Given the description of an element on the screen output the (x, y) to click on. 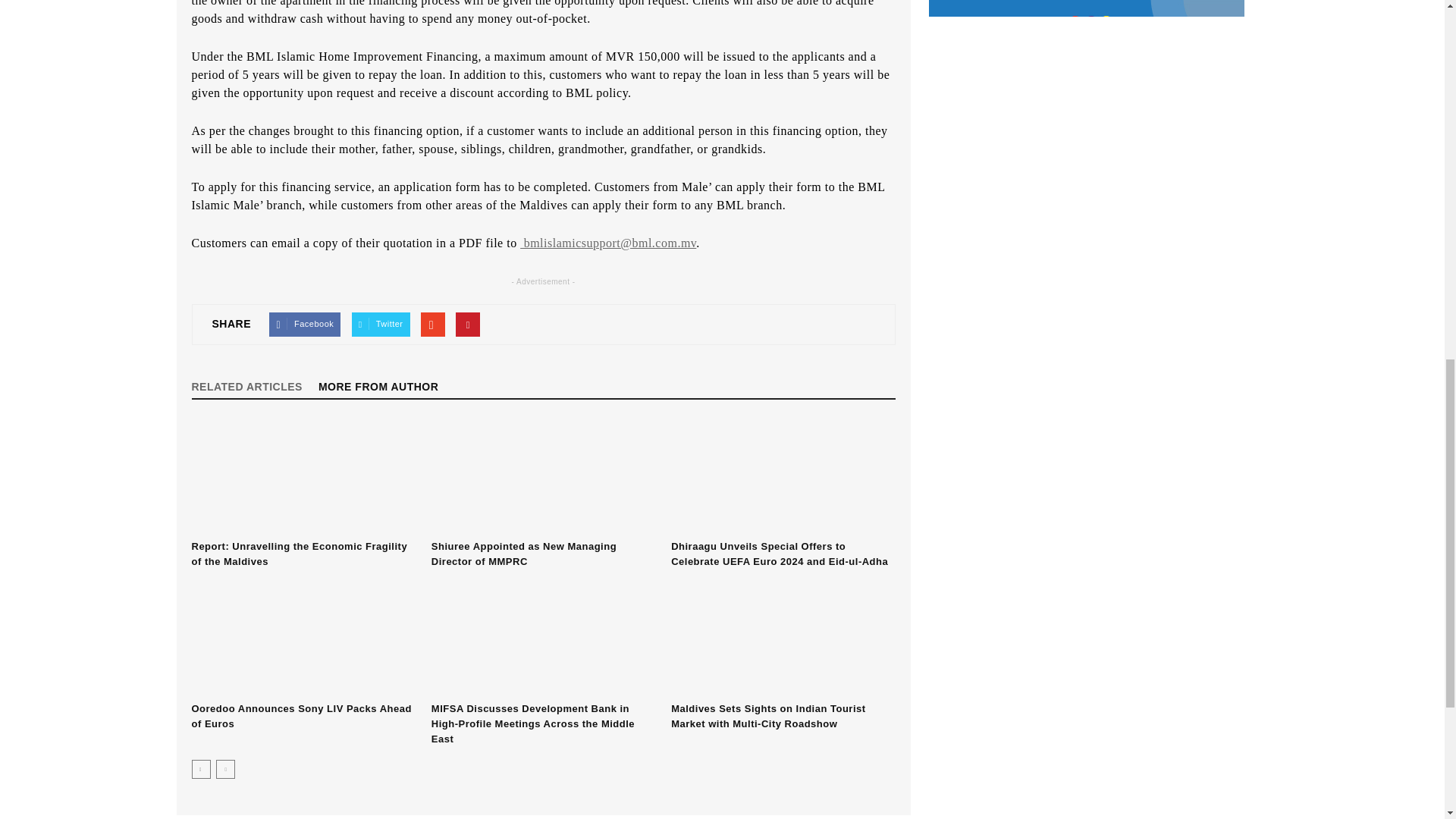
Shiuree Appointed as New Managing Director of MMPRC (542, 476)
Report: Unravelling the Economic Fragility of the Maldives (302, 476)
Ooredoo Announces Sony LIV Packs Ahead of Euros (302, 639)
Ooredoo Announces Sony LIV Packs Ahead of Euros (300, 715)
Report: Unravelling the Economic Fragility of the Maldives (298, 553)
Facebook (304, 324)
Twitter (381, 324)
Shiuree Appointed as New Managing Director of MMPRC (522, 553)
